Given the description of an element on the screen output the (x, y) to click on. 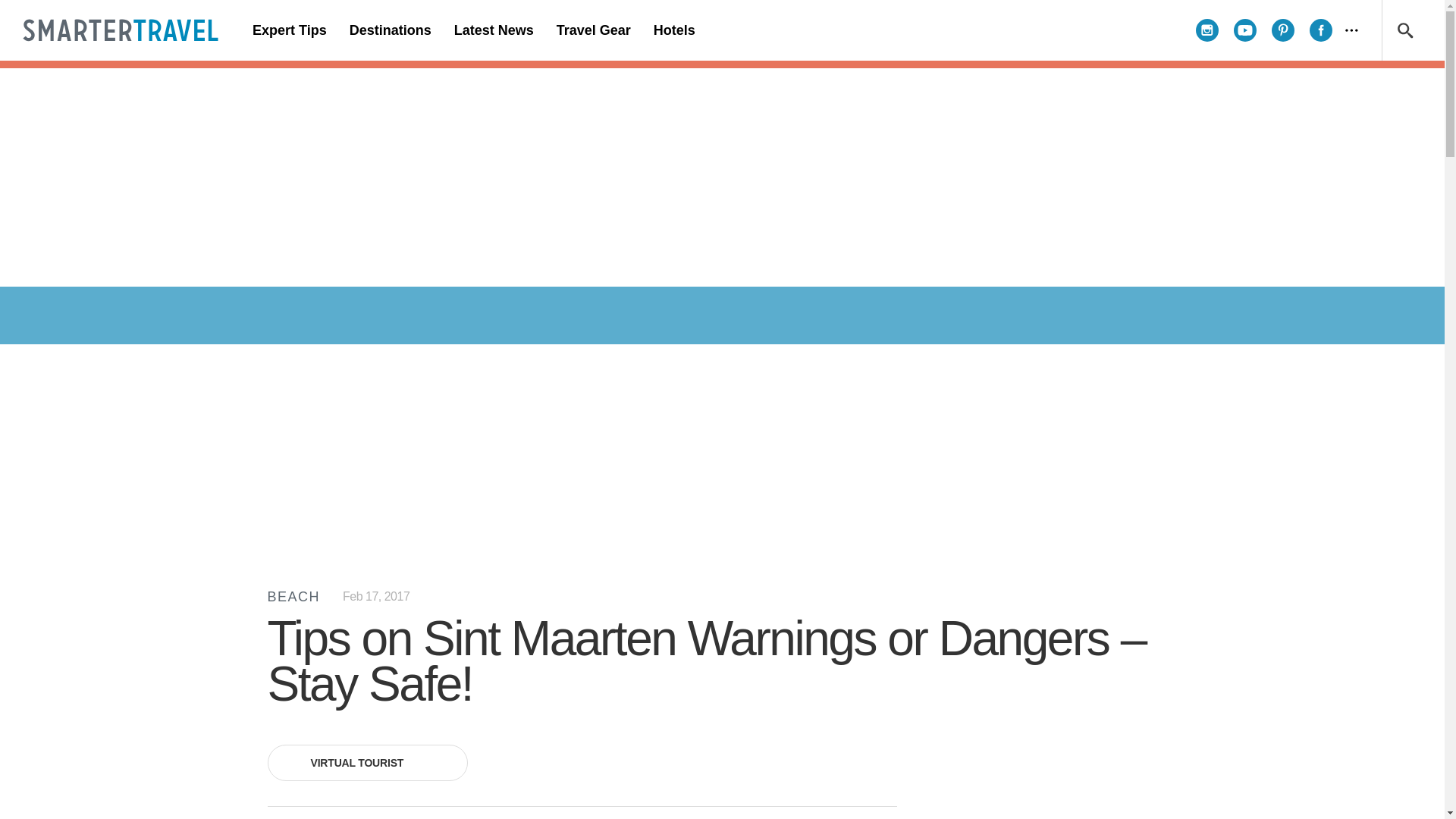
Destinations (389, 30)
Hotels (674, 30)
Travel Gear (593, 30)
Expert Tips (289, 30)
Latest News (493, 30)
